Given the description of an element on the screen output the (x, y) to click on. 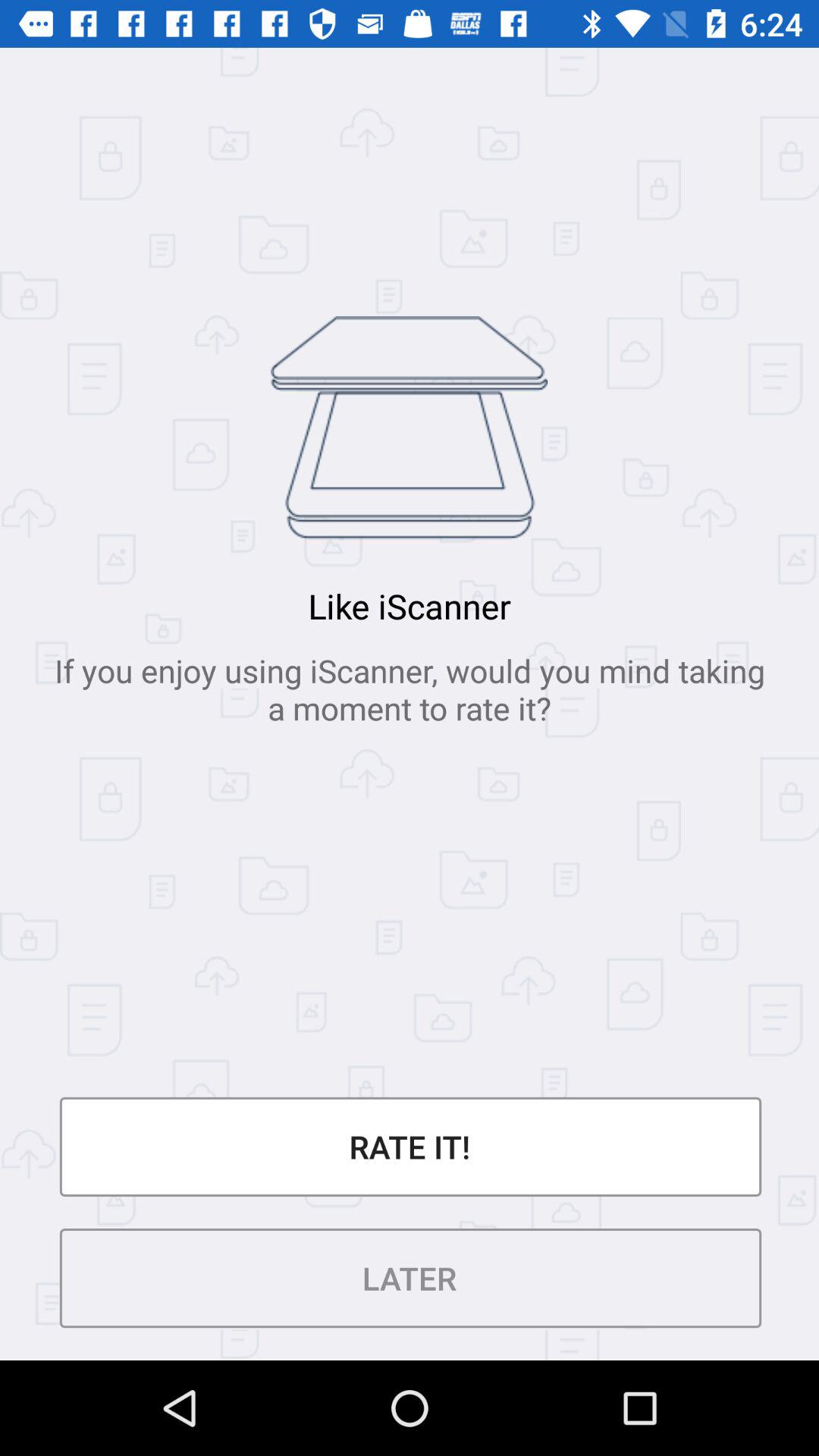
click later (409, 1278)
